Given the description of an element on the screen output the (x, y) to click on. 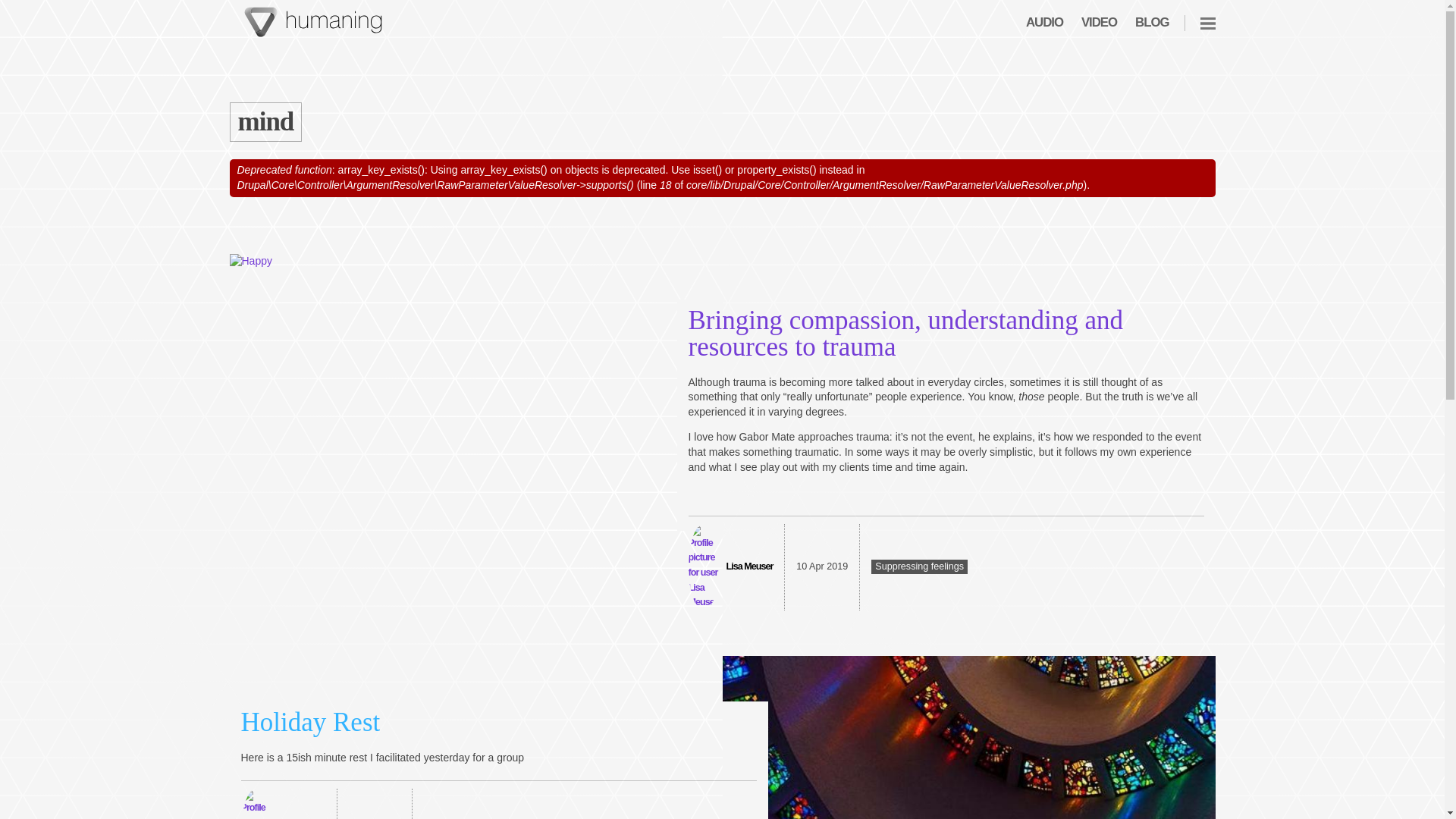
AUDIO (1044, 23)
VIDEO (1098, 23)
Menu (1206, 23)
BLOG (1152, 23)
